Given the description of an element on the screen output the (x, y) to click on. 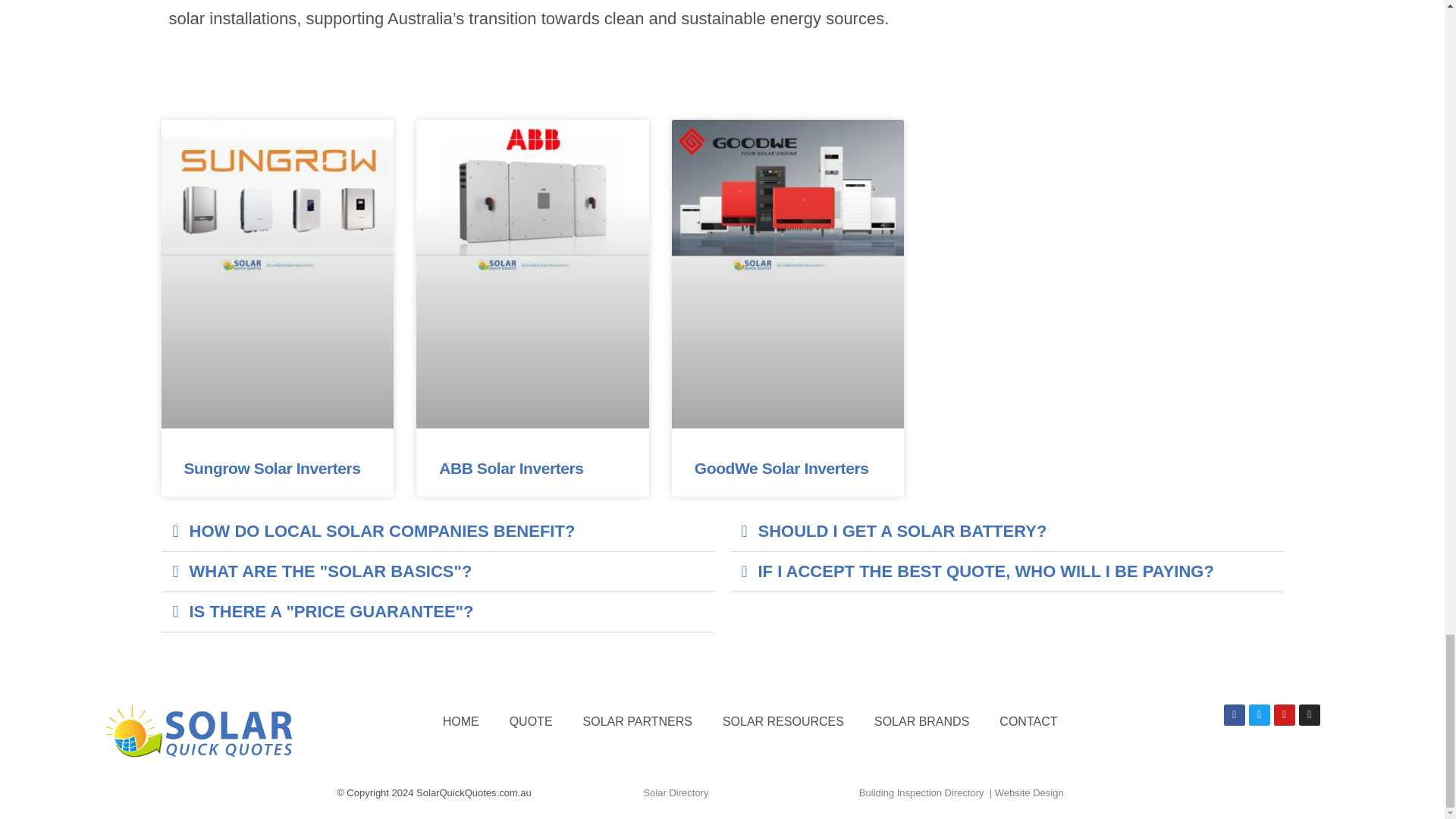
CONTACT (1027, 721)
SOLAR PARTNERS (637, 721)
GoodWe Solar Inverters (781, 467)
SOLAR BRANDS (921, 721)
QUOTE (531, 721)
IF I ACCEPT THE BEST QUOTE, WHO WILL I BE PAYING? (986, 570)
WHAT ARE THE "SOLAR BASICS"? (330, 570)
Sungrow Solar Inverters (271, 467)
HOW DO LOCAL SOLAR COMPANIES BENEFIT? (382, 530)
ABB Solar Inverters (511, 467)
